Given the description of an element on the screen output the (x, y) to click on. 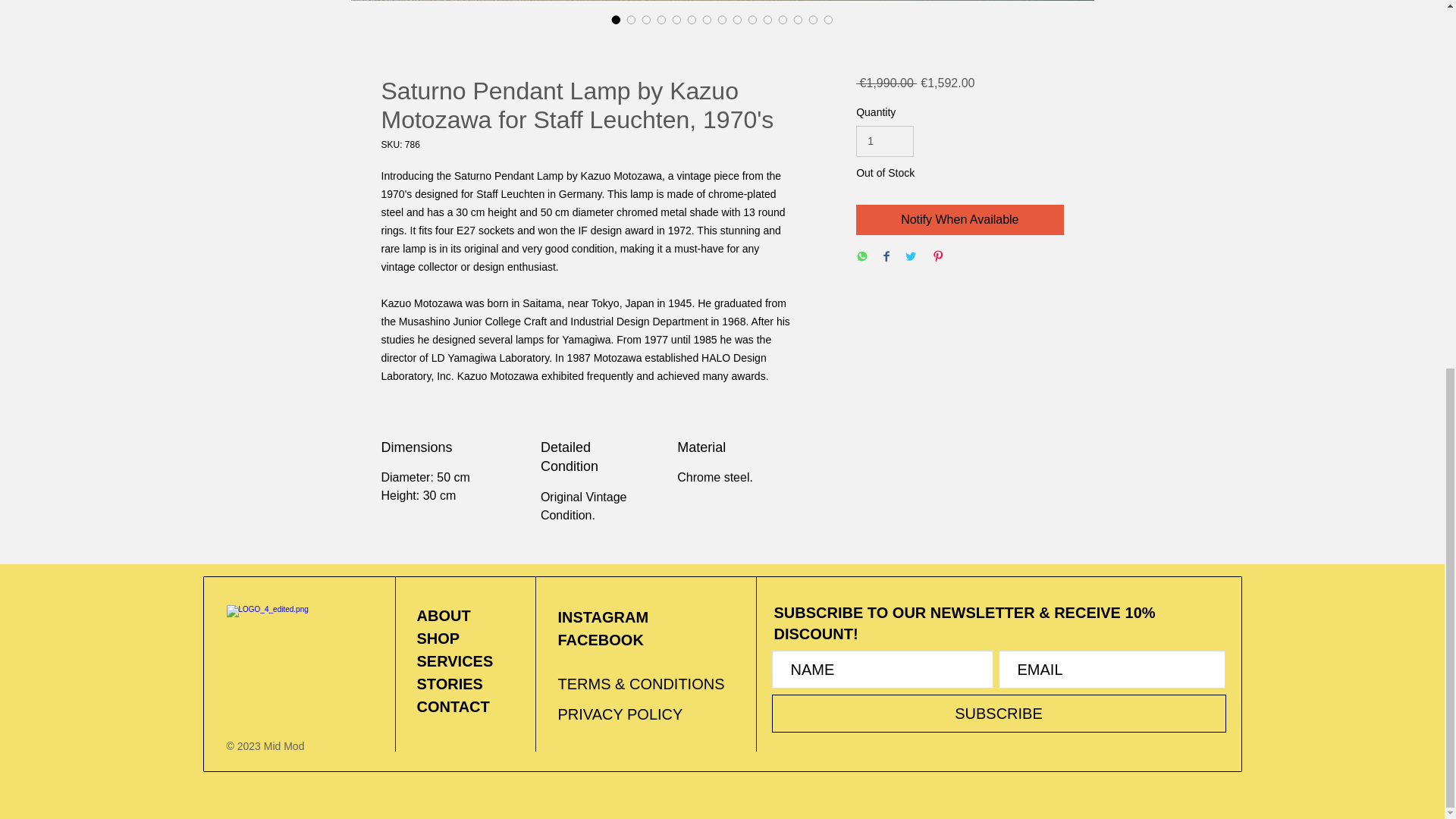
Notify When Available (959, 219)
1 (885, 141)
